Given the description of an element on the screen output the (x, y) to click on. 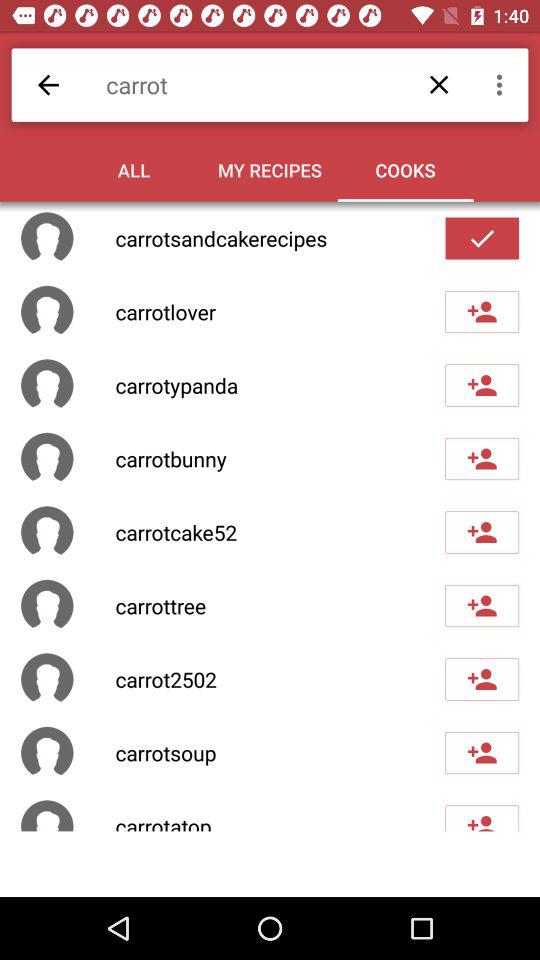
add friend (482, 312)
